Given the description of an element on the screen output the (x, y) to click on. 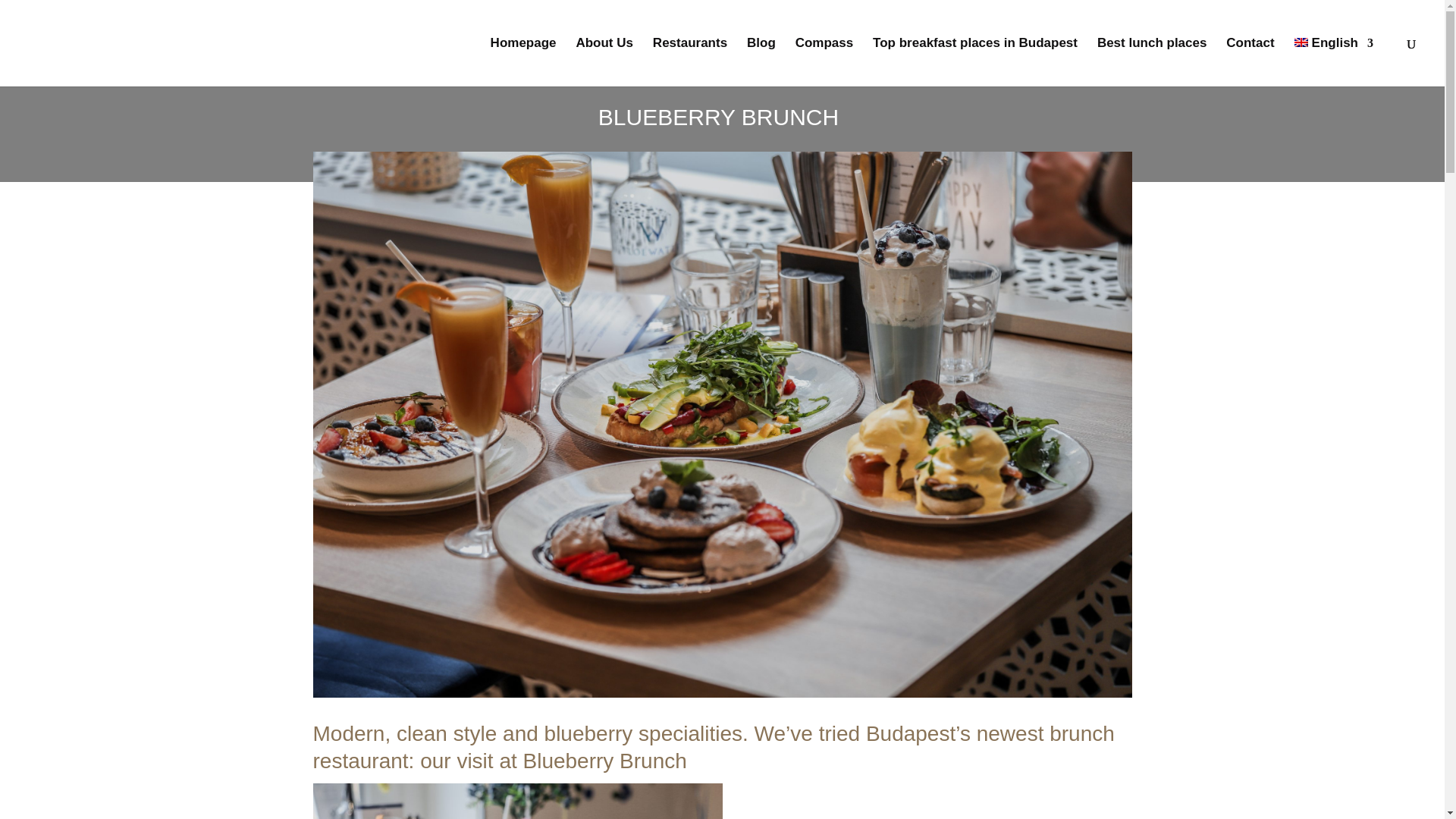
Homepage (523, 61)
Compass (823, 61)
Contact (1249, 61)
About Us (604, 61)
Best lunch places (1152, 61)
English (1333, 61)
Restaurants (689, 61)
Top breakfast places in Budapest (974, 61)
English (1333, 61)
